Given the description of an element on the screen output the (x, y) to click on. 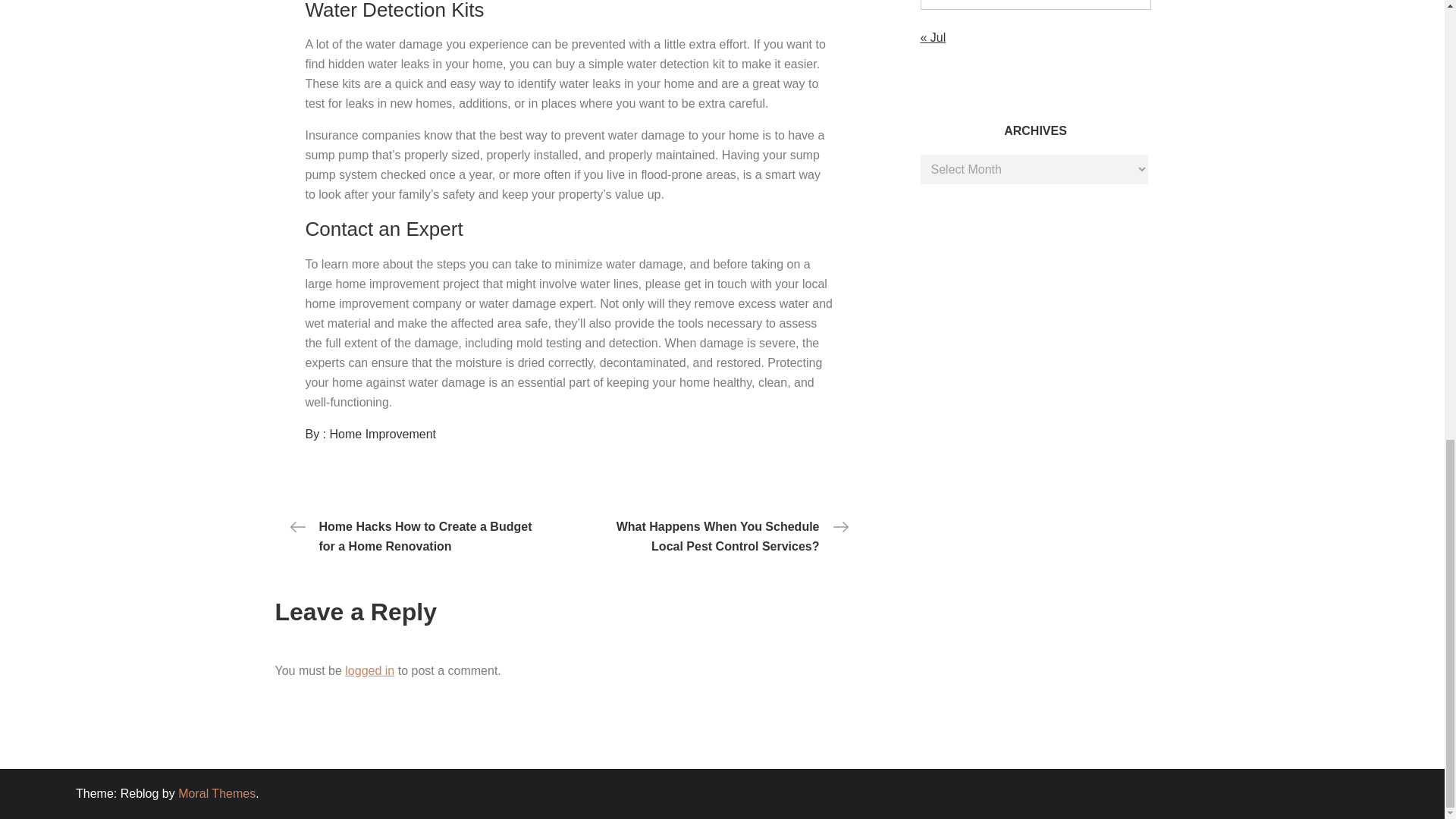
Home Improvement (383, 433)
logged in (369, 670)
Moral Themes (216, 793)
